Given the description of an element on the screen output the (x, y) to click on. 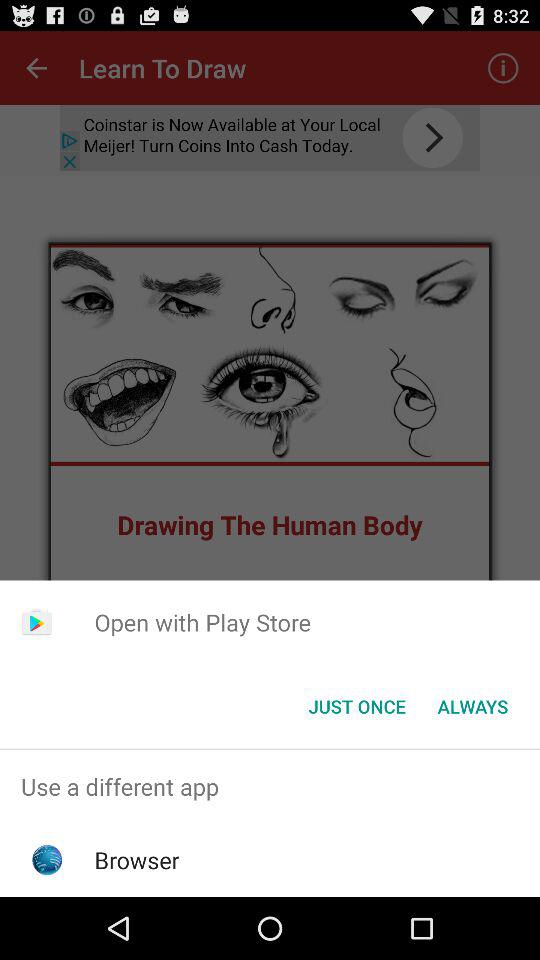
press the button to the left of always icon (356, 706)
